Given the description of an element on the screen output the (x, y) to click on. 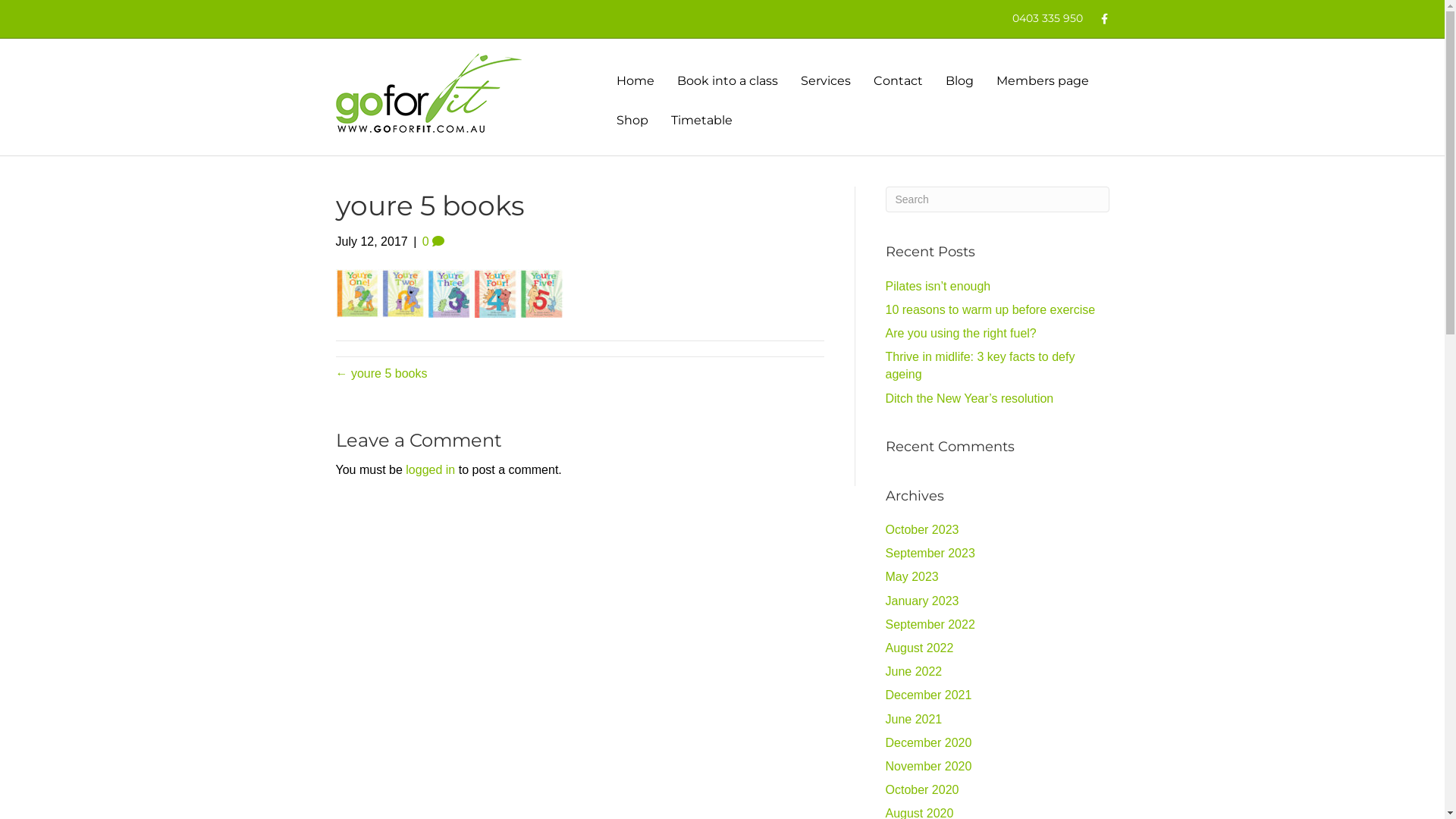
December 2020 Element type: text (928, 742)
September 2023 Element type: text (930, 552)
December 2021 Element type: text (928, 694)
Timetable Element type: text (701, 120)
Blog Element type: text (959, 80)
May 2023 Element type: text (911, 576)
Are you using the right fuel? Element type: text (960, 332)
Contact Element type: text (897, 80)
Type and press Enter to search. Element type: hover (997, 199)
Shop Element type: text (632, 120)
Book into a class Element type: text (727, 80)
10 reasons to warm up before exercise Element type: text (990, 309)
Thrive in midlife: 3 key facts to defy ageing Element type: text (980, 365)
August 2022 Element type: text (919, 647)
Services Element type: text (824, 80)
June 2021 Element type: text (913, 718)
October 2020 Element type: text (922, 789)
January 2023 Element type: text (922, 600)
June 2022 Element type: text (913, 671)
Members page Element type: text (1041, 80)
logged in Element type: text (430, 469)
November 2020 Element type: text (928, 765)
September 2022 Element type: text (930, 624)
0403 335 950 Element type: text (1047, 18)
0 Element type: text (433, 241)
October 2023 Element type: text (922, 529)
Facebook Element type: text (1097, 17)
Home Element type: text (635, 80)
